Given the description of an element on the screen output the (x, y) to click on. 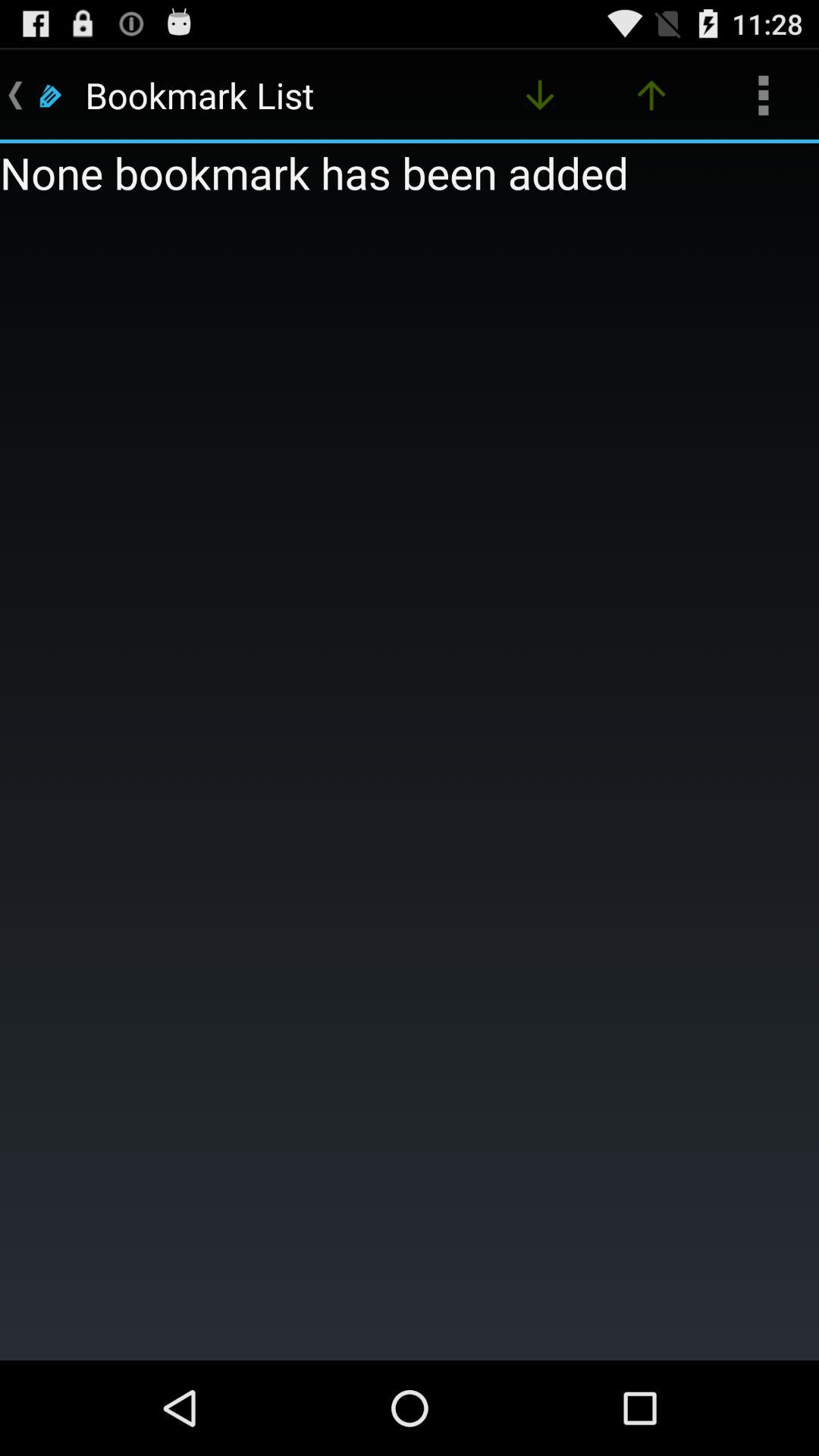
launch item to the right of the bookmark list app (540, 95)
